Given the description of an element on the screen output the (x, y) to click on. 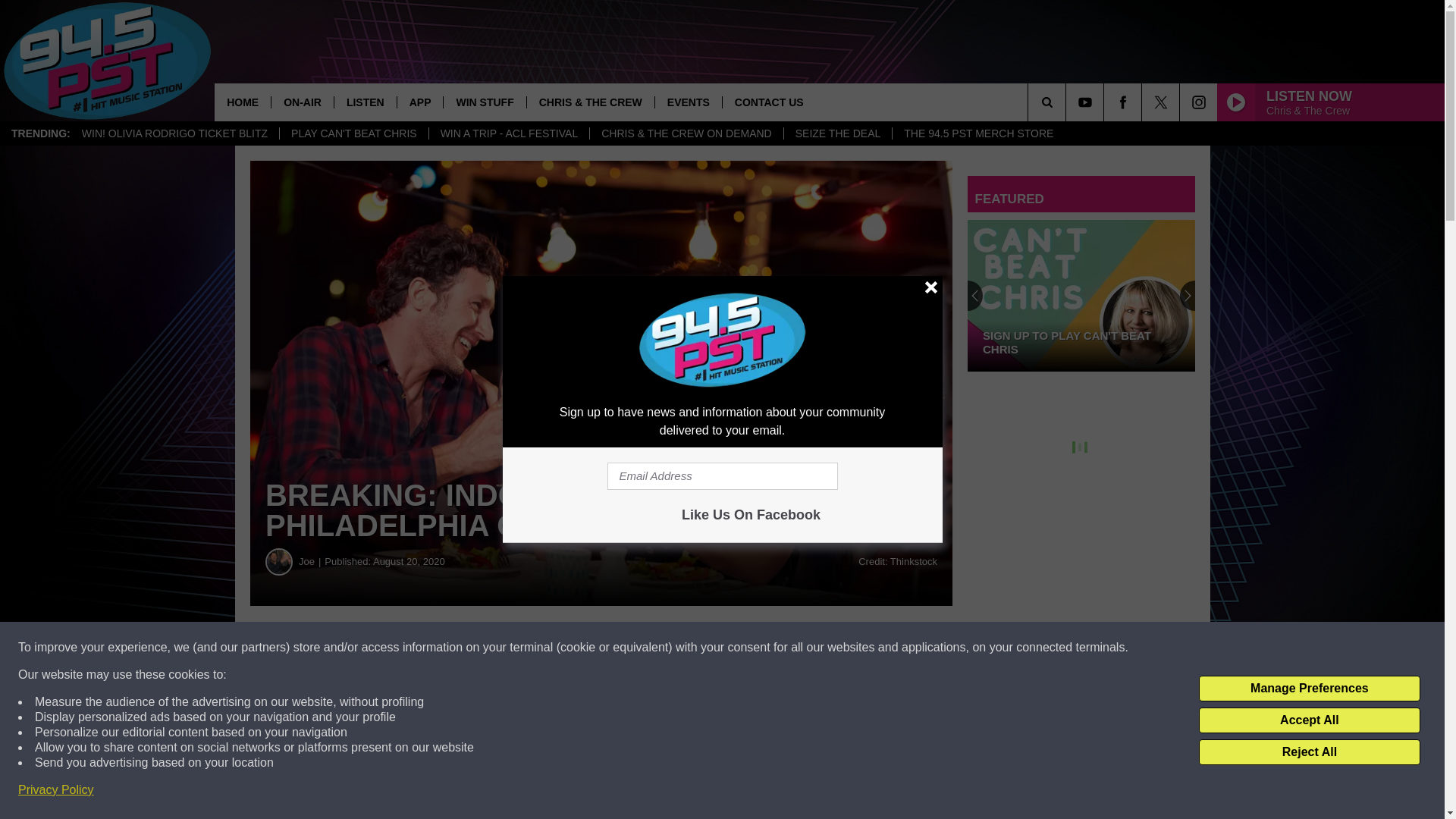
SEARCH (1068, 102)
THE 94.5 PST MERCH STORE (977, 133)
HOME (242, 102)
Privacy Policy (55, 789)
Email Address (722, 475)
Print this page (787, 647)
Reject All (1309, 751)
Manage Preferences (1309, 688)
SEARCH (1068, 102)
Share on Twitter (600, 647)
SEIZE THE DEAL (837, 133)
ON-AIR (301, 102)
WIN A TRIP - ACL FESTIVAL (508, 133)
Share on Facebook (413, 647)
LISTEN (364, 102)
